Given the description of an element on the screen output the (x, y) to click on. 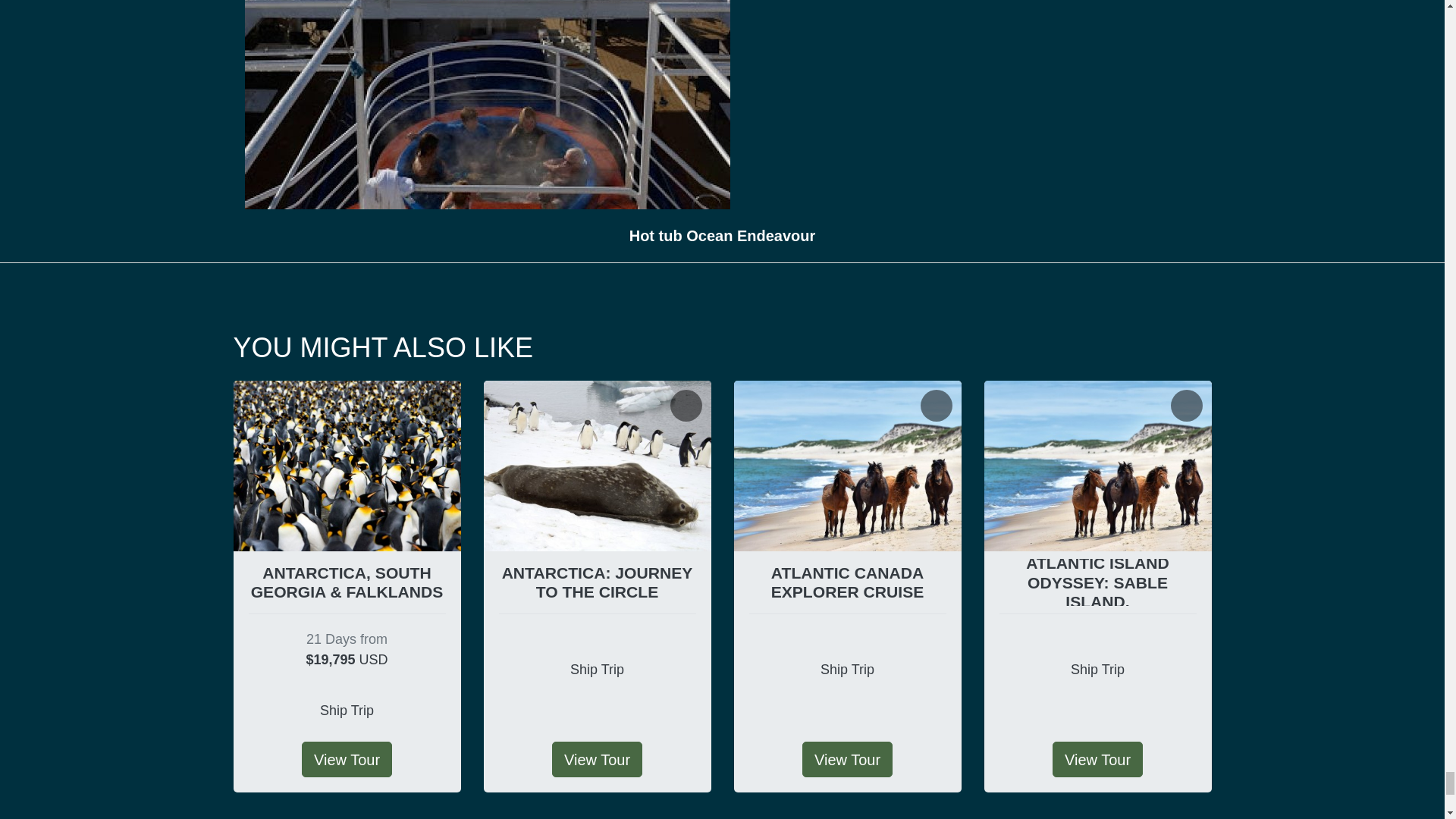
Add this tour to your Favourites (936, 405)
Add this tour to your Favourites (685, 405)
Add this tour to your Favourites (435, 405)
Add this tour to your Favourites (1186, 405)
